Given the description of an element on the screen output the (x, y) to click on. 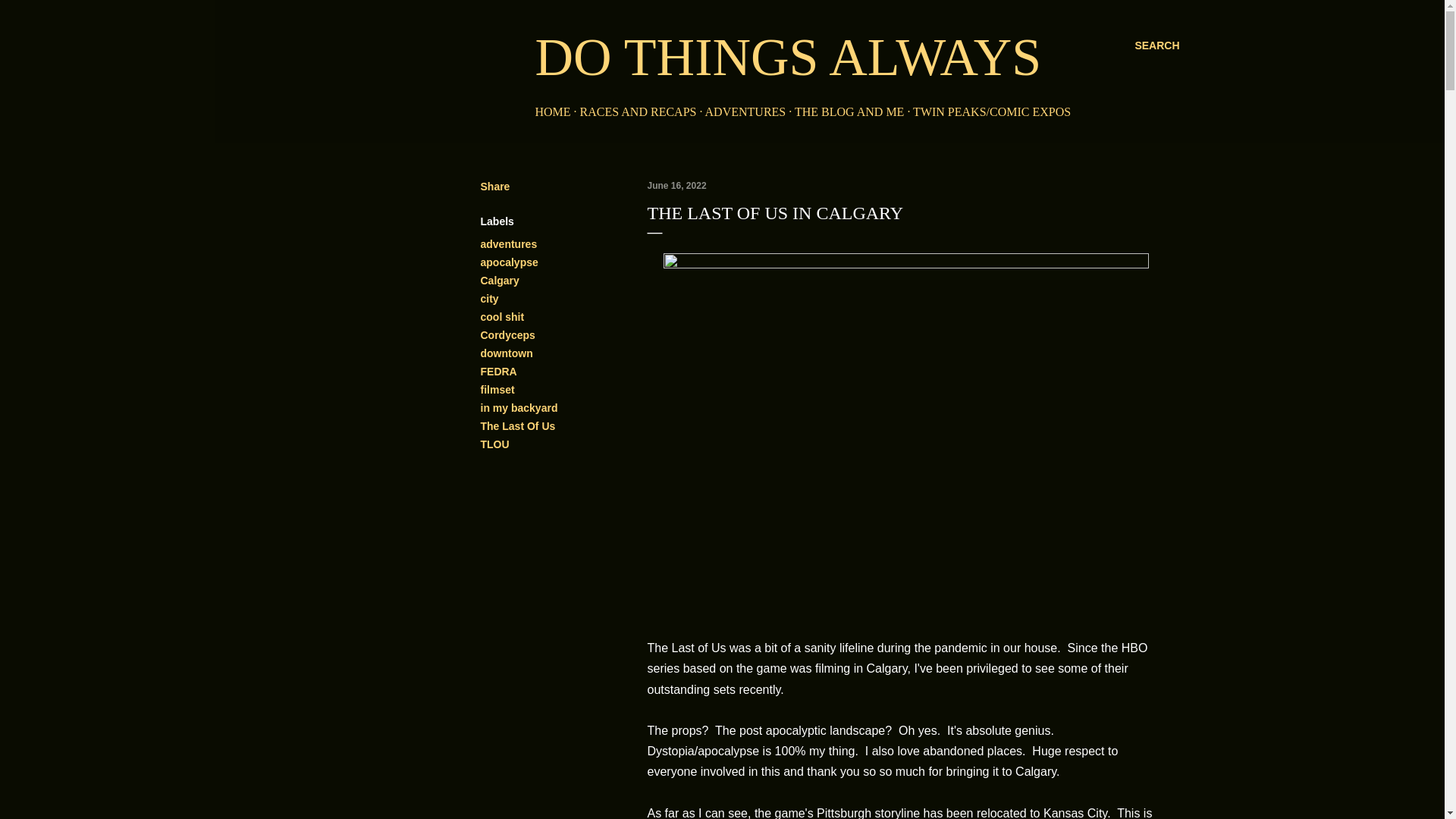
THE BLOG AND ME (849, 111)
HOME (552, 111)
Share (495, 186)
Cordyceps (507, 335)
adventures (508, 244)
in my backyard (518, 408)
apocalypse (509, 262)
DO THINGS ALWAYS (788, 56)
TLOU (494, 444)
June 16, 2022 (676, 185)
